Given the description of an element on the screen output the (x, y) to click on. 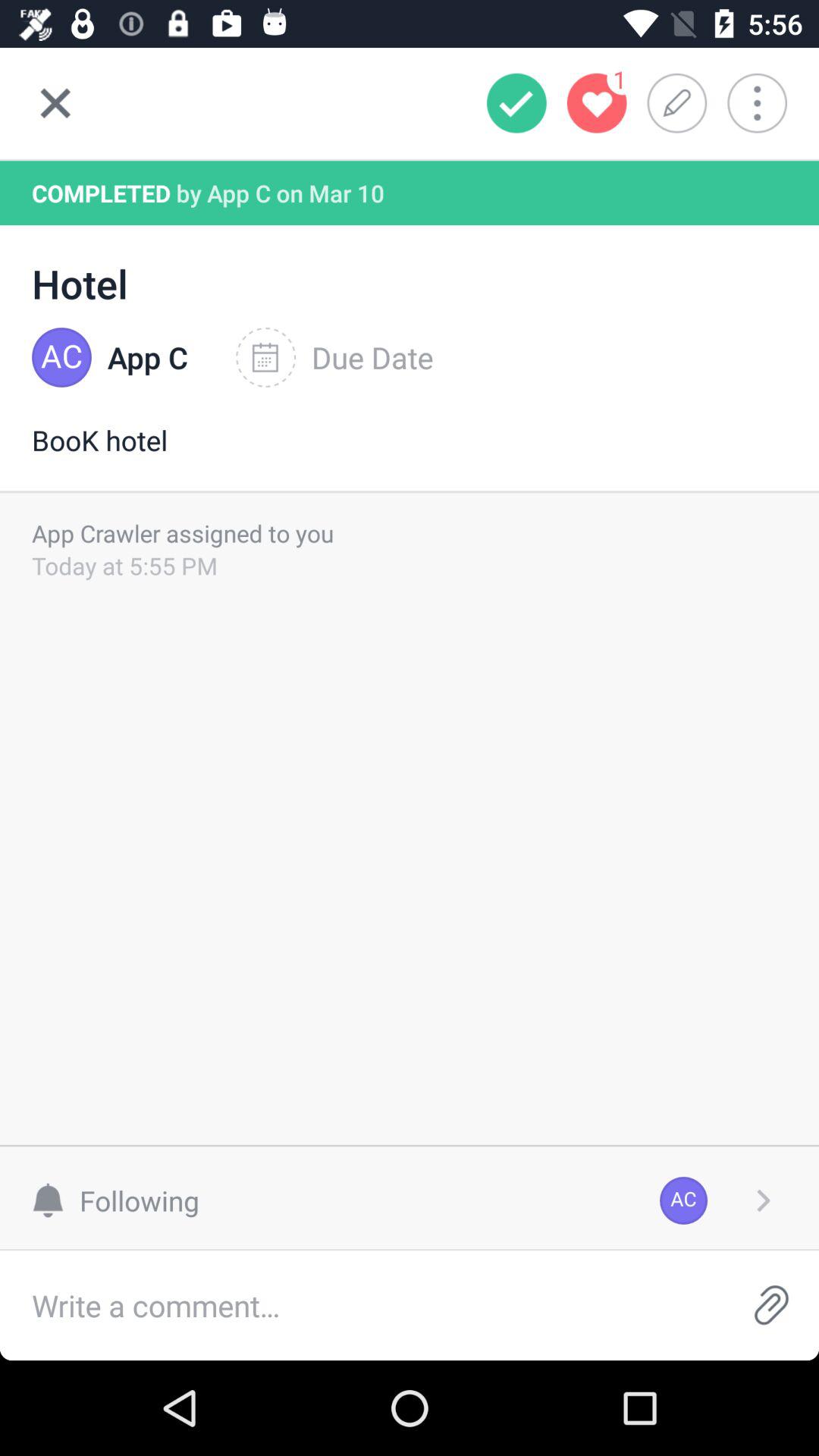
more (768, 103)
